Given the description of an element on the screen output the (x, y) to click on. 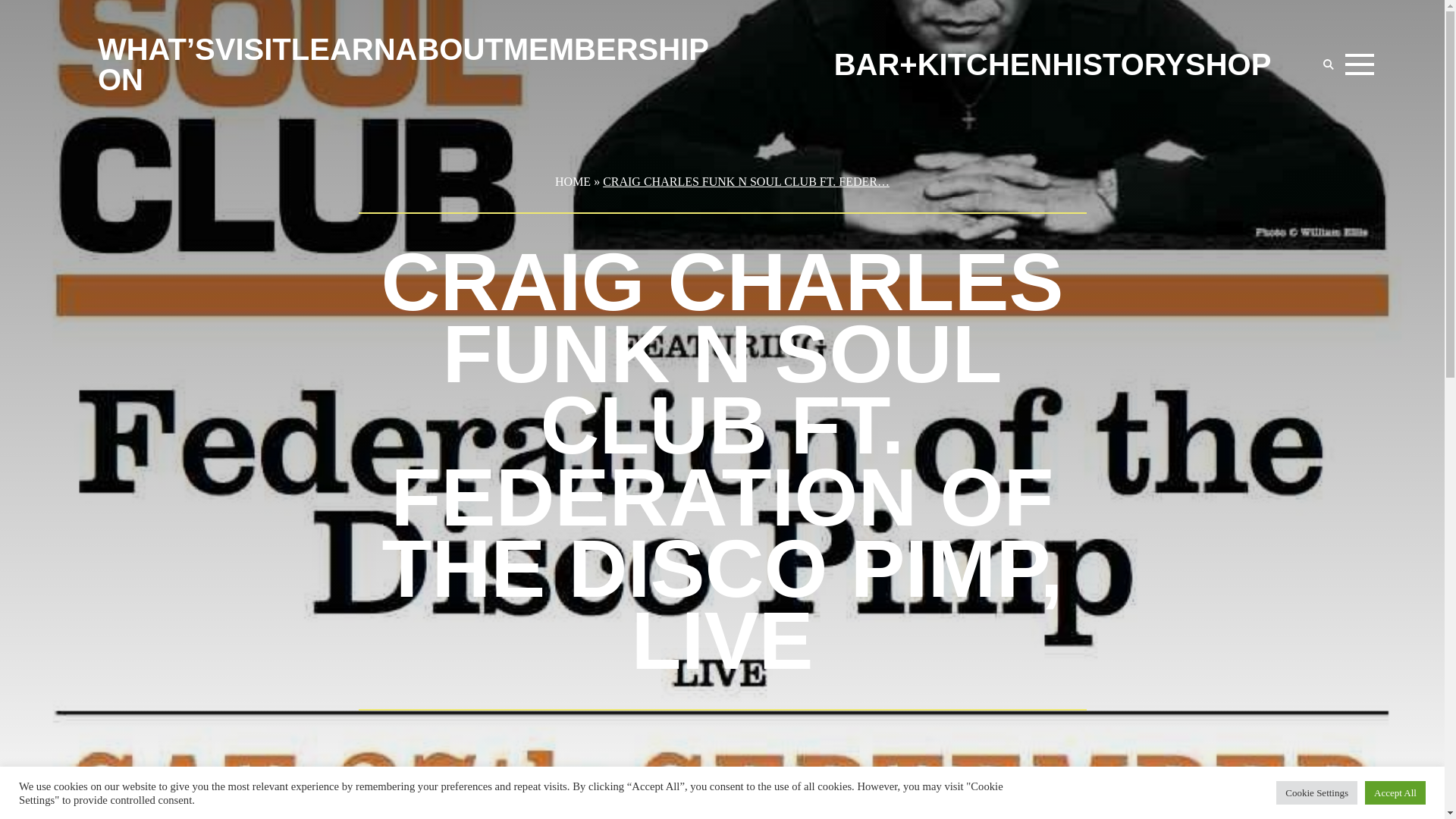
ABOUT (449, 49)
SHOP (1228, 64)
VISIT (253, 49)
HISTORY (1118, 64)
LEARN (343, 49)
MEMBERSHIP (606, 49)
